Given the description of an element on the screen output the (x, y) to click on. 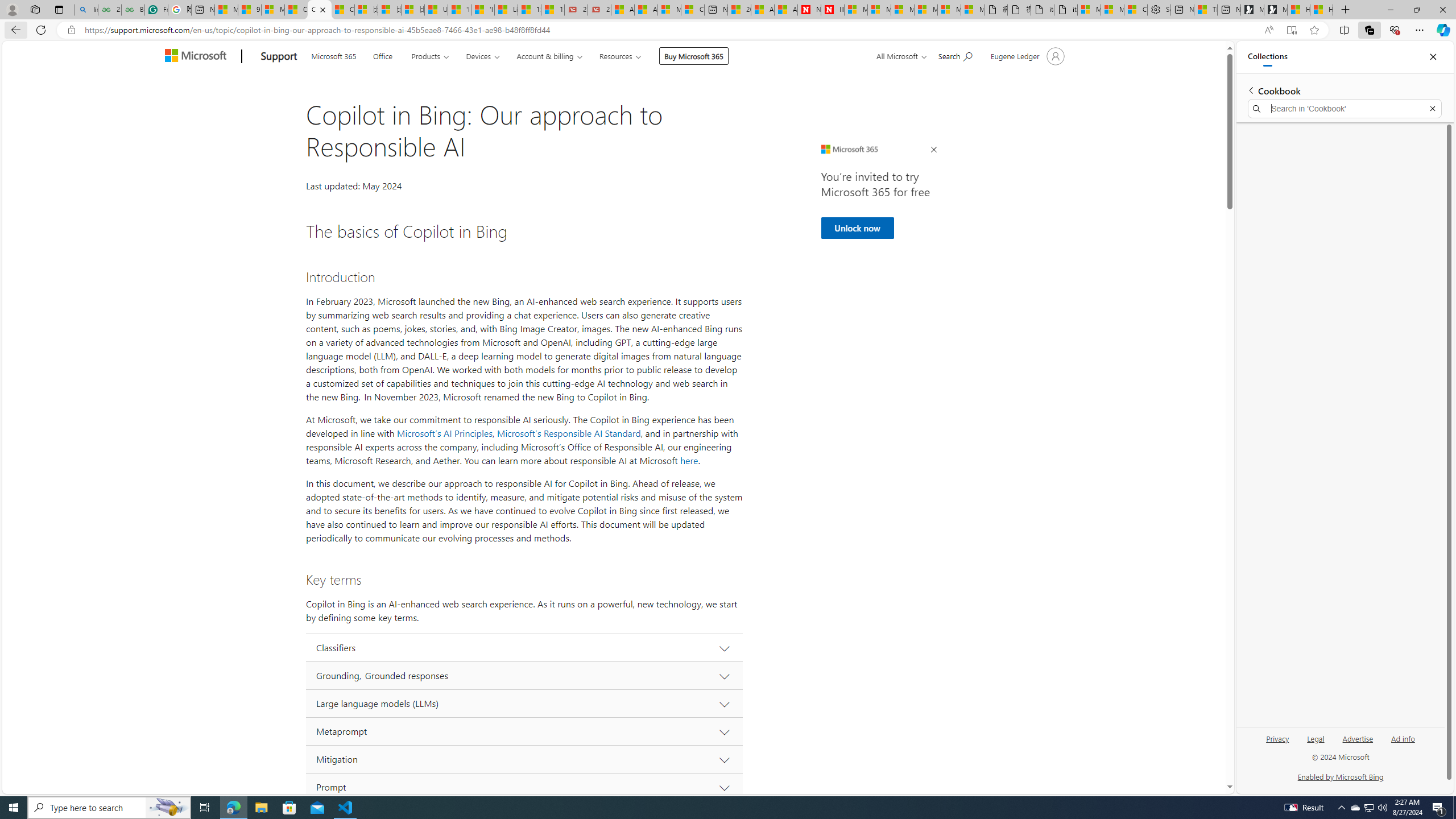
Consumer Health Data Privacy Policy (1135, 9)
Unlock now (857, 228)
Illness news & latest pictures from Newsweek.com (832, 9)
Lifestyle - MSN (505, 9)
linux basic - Search (86, 9)
